Given the description of an element on the screen output the (x, y) to click on. 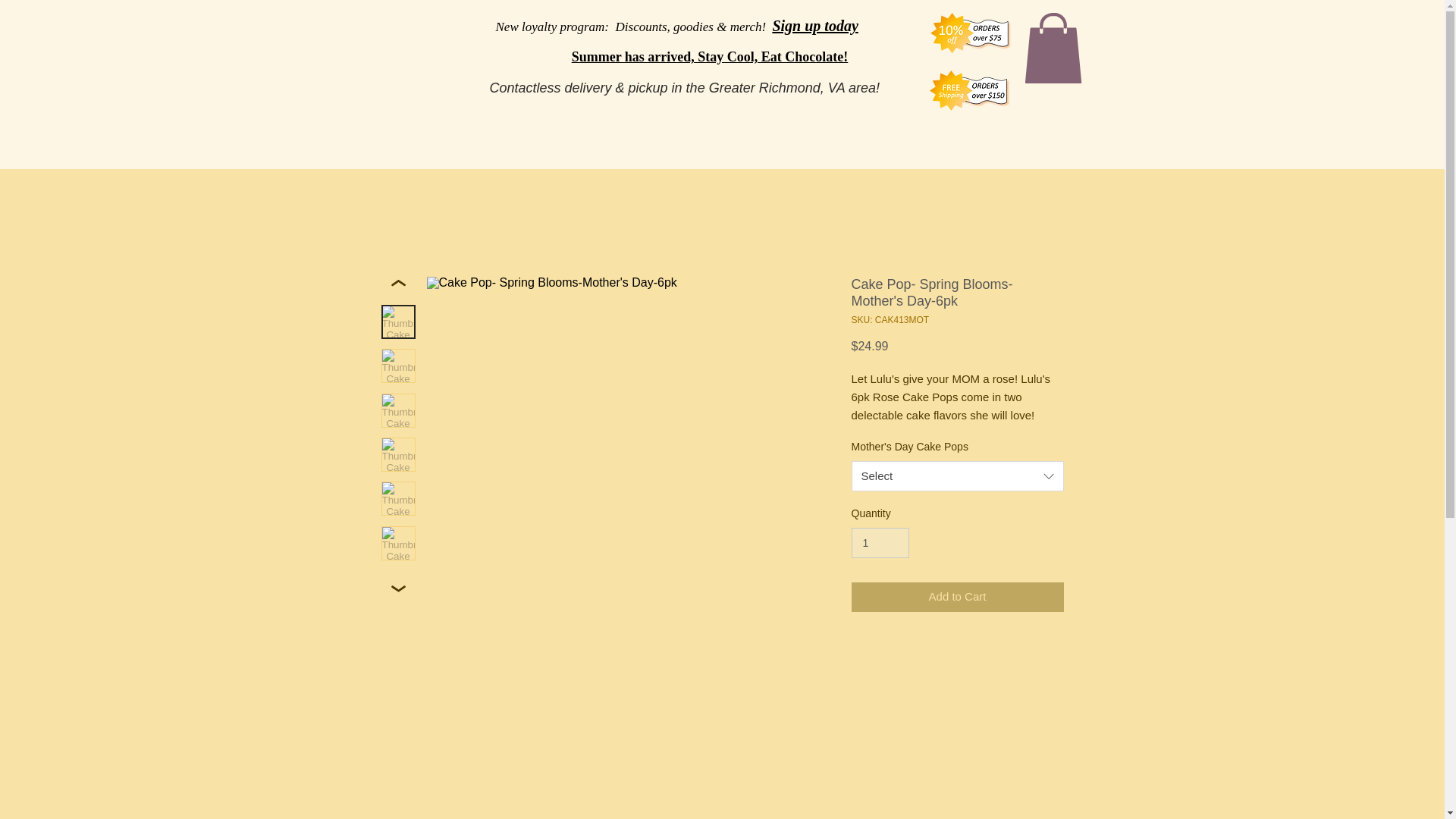
Summer has arrived, Stay Cool, Eat Chocolate! (710, 56)
Select (956, 476)
Add to Cart (956, 596)
10off75bucks.png (970, 33)
Sign up today (814, 25)
1 (879, 542)
